Given the description of an element on the screen output the (x, y) to click on. 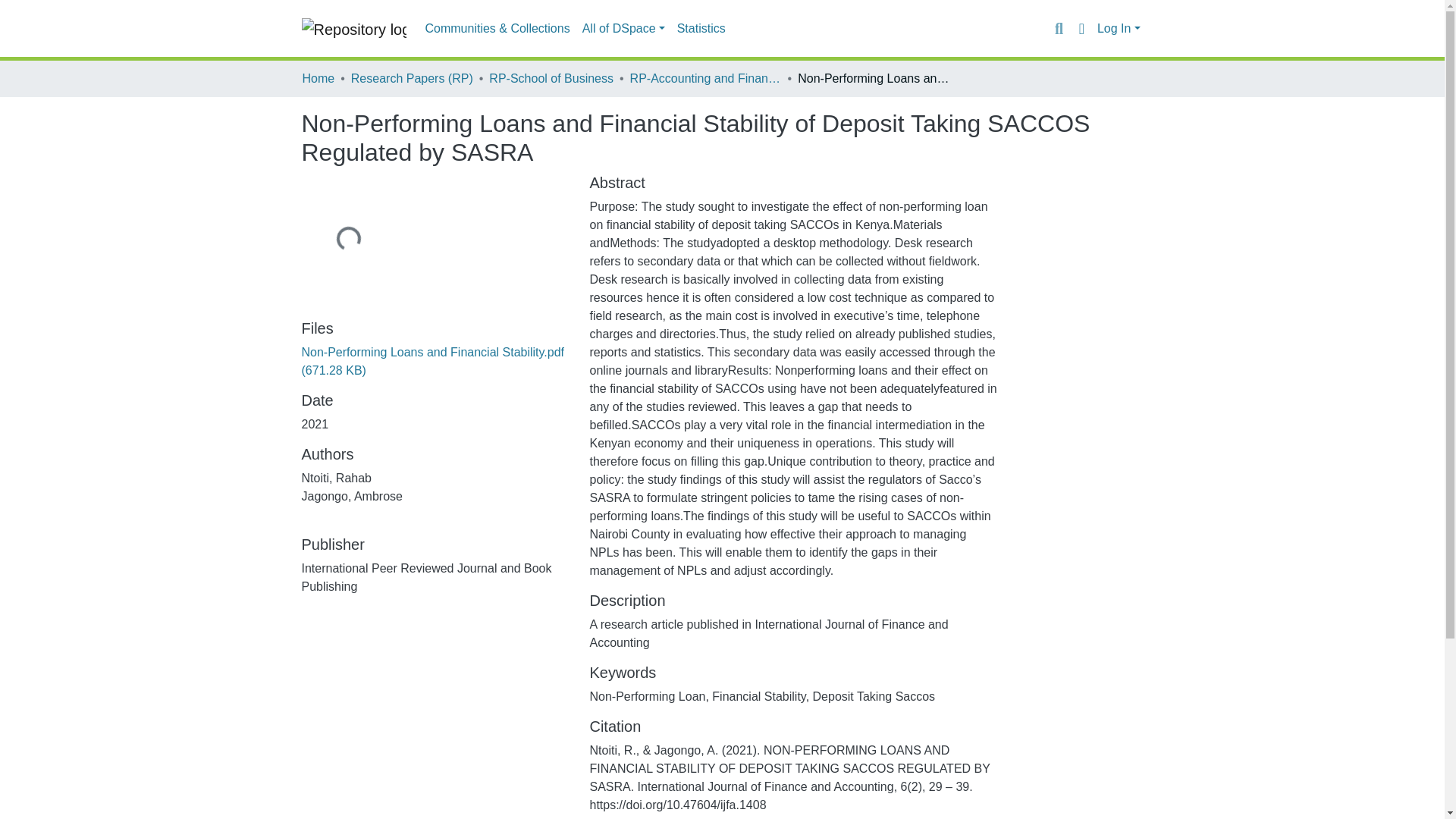
Statistics (701, 28)
Home (317, 78)
Log In (1118, 28)
All of DSpace (623, 28)
Language switch (1081, 28)
RP-School of Business (550, 78)
Search (1058, 28)
Statistics (701, 28)
RP-Accounting and Finance Department (705, 78)
